Given the description of an element on the screen output the (x, y) to click on. 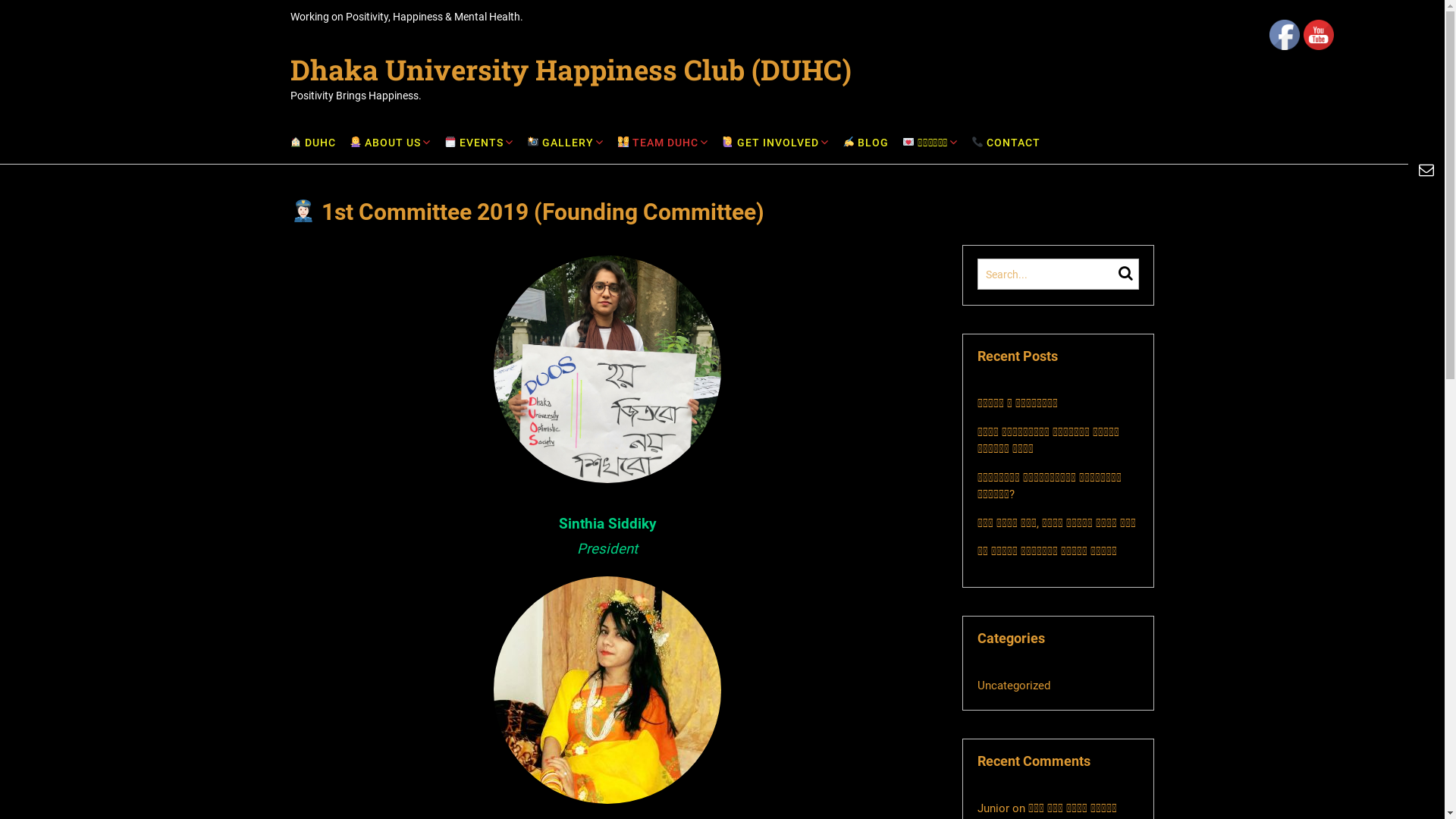
Junior Element type: text (993, 808)
DUHC Element type: text (312, 142)
CONTACT Element type: text (1005, 142)
Uncategorized Element type: text (1013, 685)
EVENTS Element type: text (478, 142)
Dhaka University Happiness Club (DUHC) Element type: text (569, 69)
Send us an email Element type: hover (1426, 169)
TEAM DUHC Element type: text (662, 142)
Send us an email Element type: hover (1146, 62)
GALLERY Element type: text (565, 142)
GET INVOLVED Element type: text (774, 142)
Facebook Element type: hover (1284, 34)
Search for: Element type: hover (1047, 273)
ABOUT US Element type: text (389, 142)
YouTube Element type: hover (1318, 34)
BLOG Element type: text (865, 142)
